Given the description of an element on the screen output the (x, y) to click on. 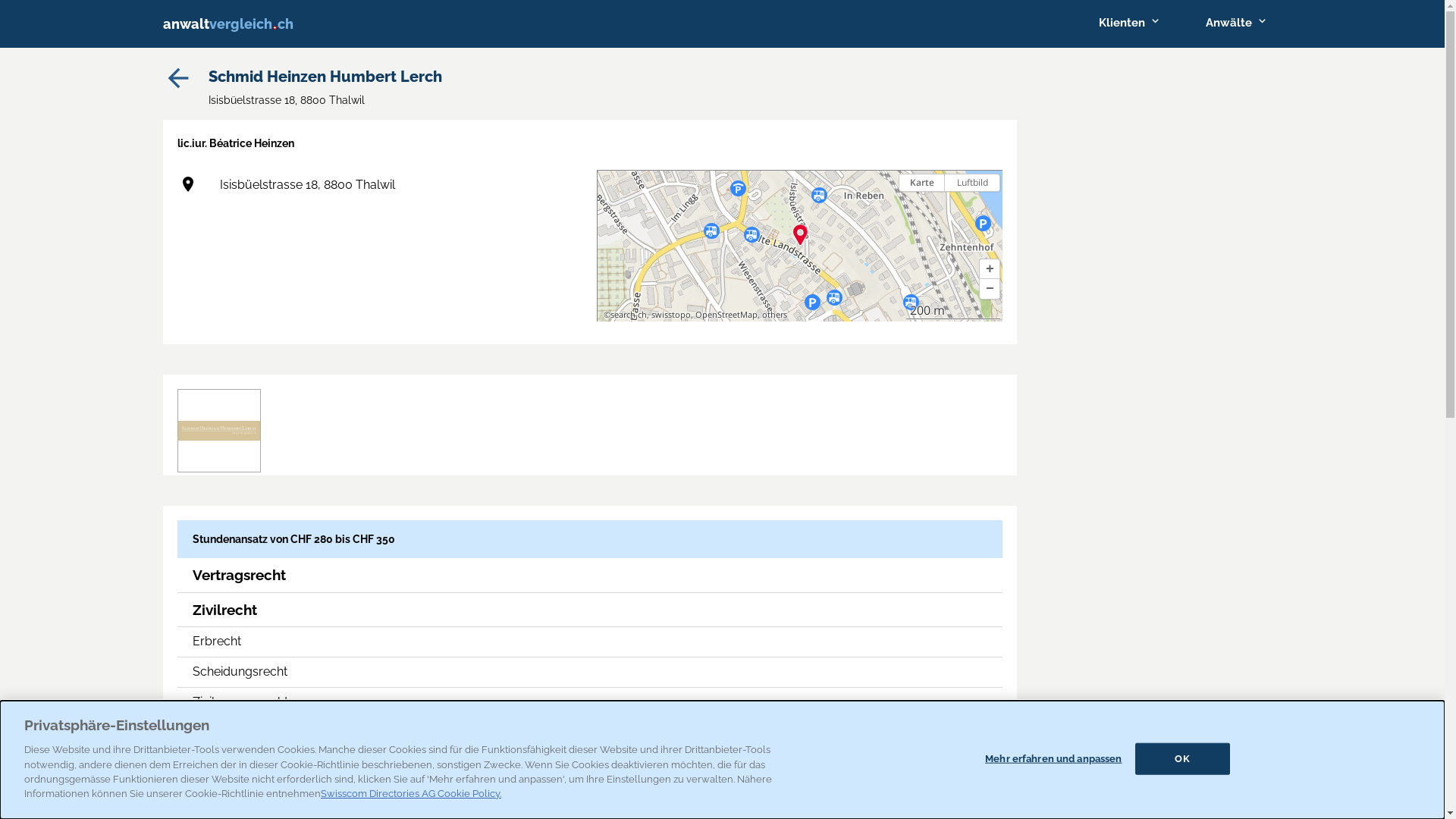
anwaltvergleich
ch Element type: text (260, 23)
map Element type: hover (798, 245)
arrow_back Element type: text (177, 88)
Swisscom Directories AG Cookie Policy. Element type: text (410, 793)
Mehr erfahren und anpassen Element type: text (1053, 758)
OK Element type: text (1182, 759)
Klienten
expand_more Element type: text (1128, 22)
